Given the description of an element on the screen output the (x, y) to click on. 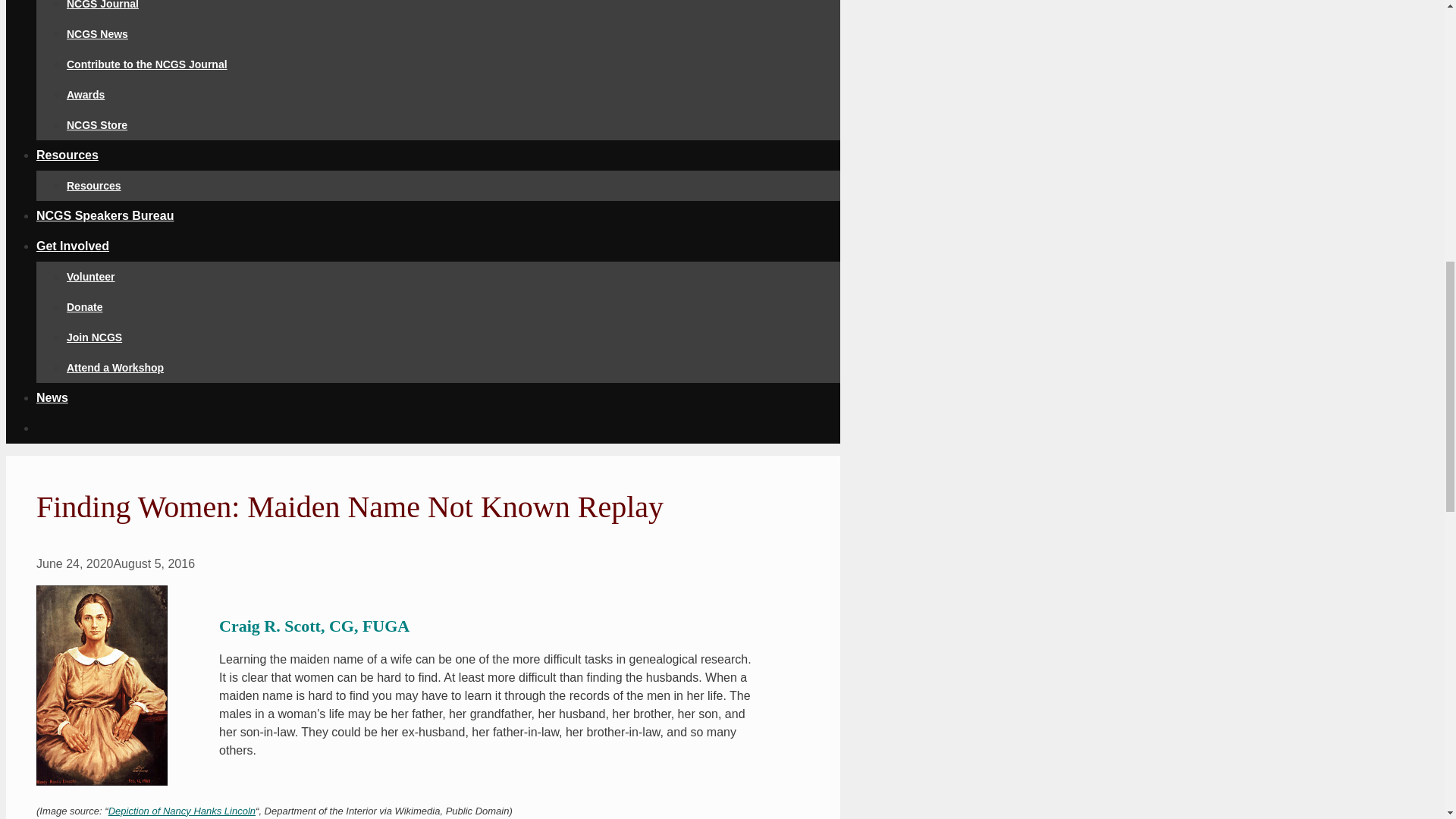
NCGS Speakers Bureau (104, 215)
Contribute to the NCGS Journal (146, 64)
NCGS Journal (102, 4)
NCGS Store (97, 124)
NCGS News (97, 33)
Get Involved (72, 245)
Awards (85, 94)
Resources (93, 185)
Resources (67, 154)
